Given the description of an element on the screen output the (x, y) to click on. 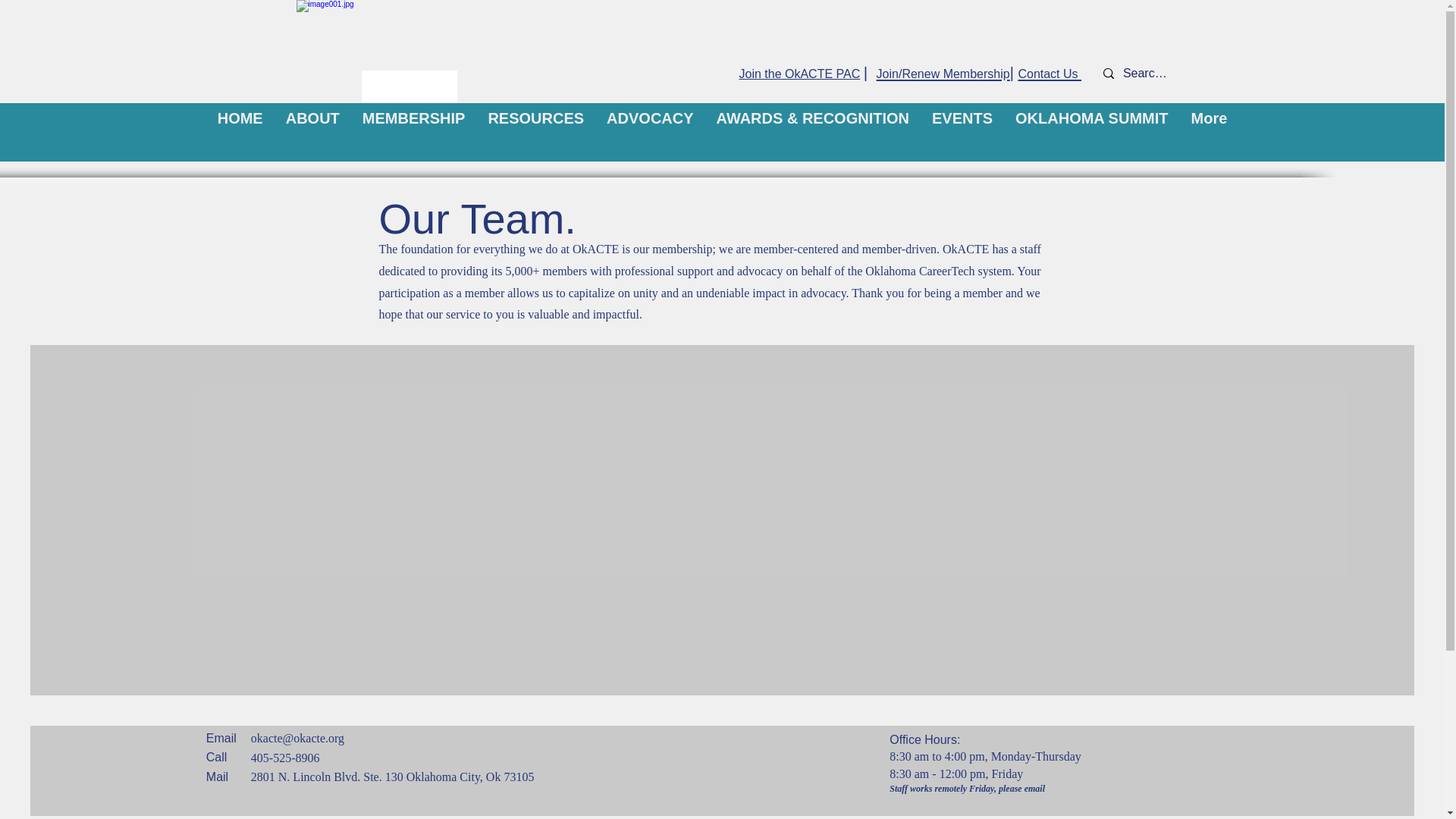
Join the OkACTE PAC (799, 73)
OKLAHOMA SUMMIT (1091, 136)
ADVOCACY (649, 136)
RESOURCES (535, 136)
HOME (240, 136)
EVENTS (962, 136)
Contact Us  (1049, 72)
